Given the description of an element on the screen output the (x, y) to click on. 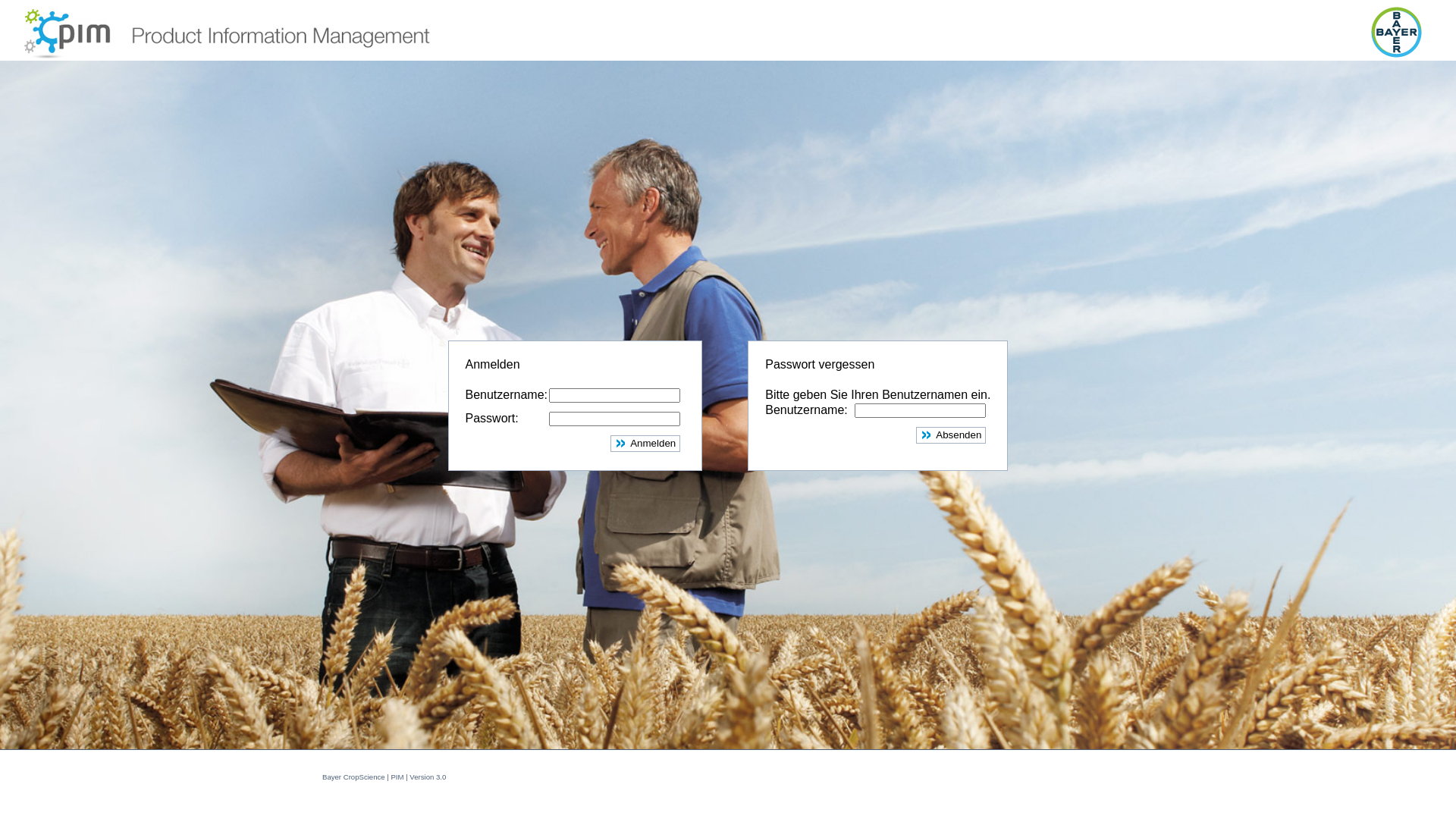
Absenden Element type: text (950, 434)
Anmelden Element type: text (645, 443)
